Given the description of an element on the screen output the (x, y) to click on. 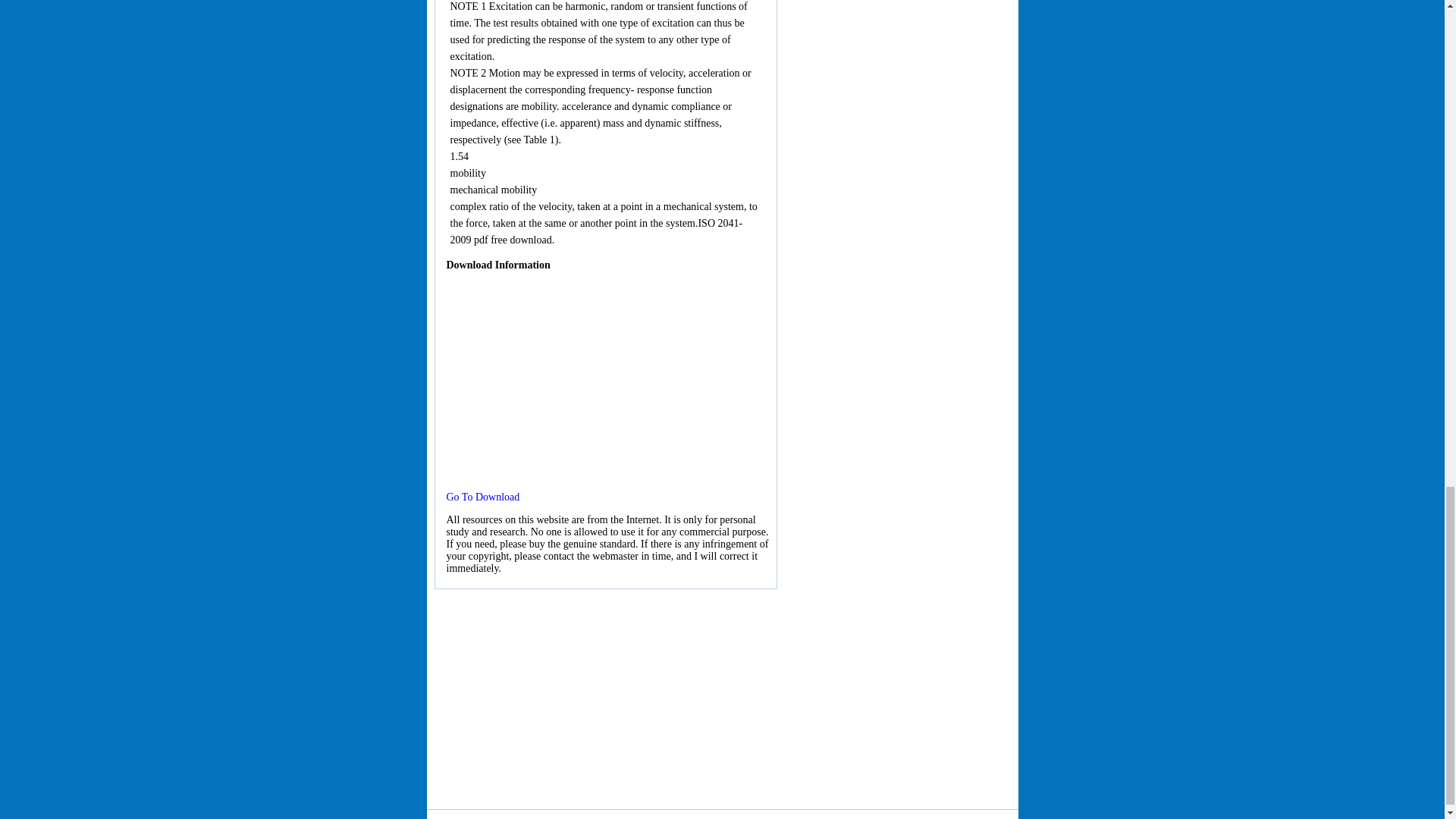
Advertisement (721, 694)
Go To Download (482, 496)
Advertisement (605, 381)
